Given the description of an element on the screen output the (x, y) to click on. 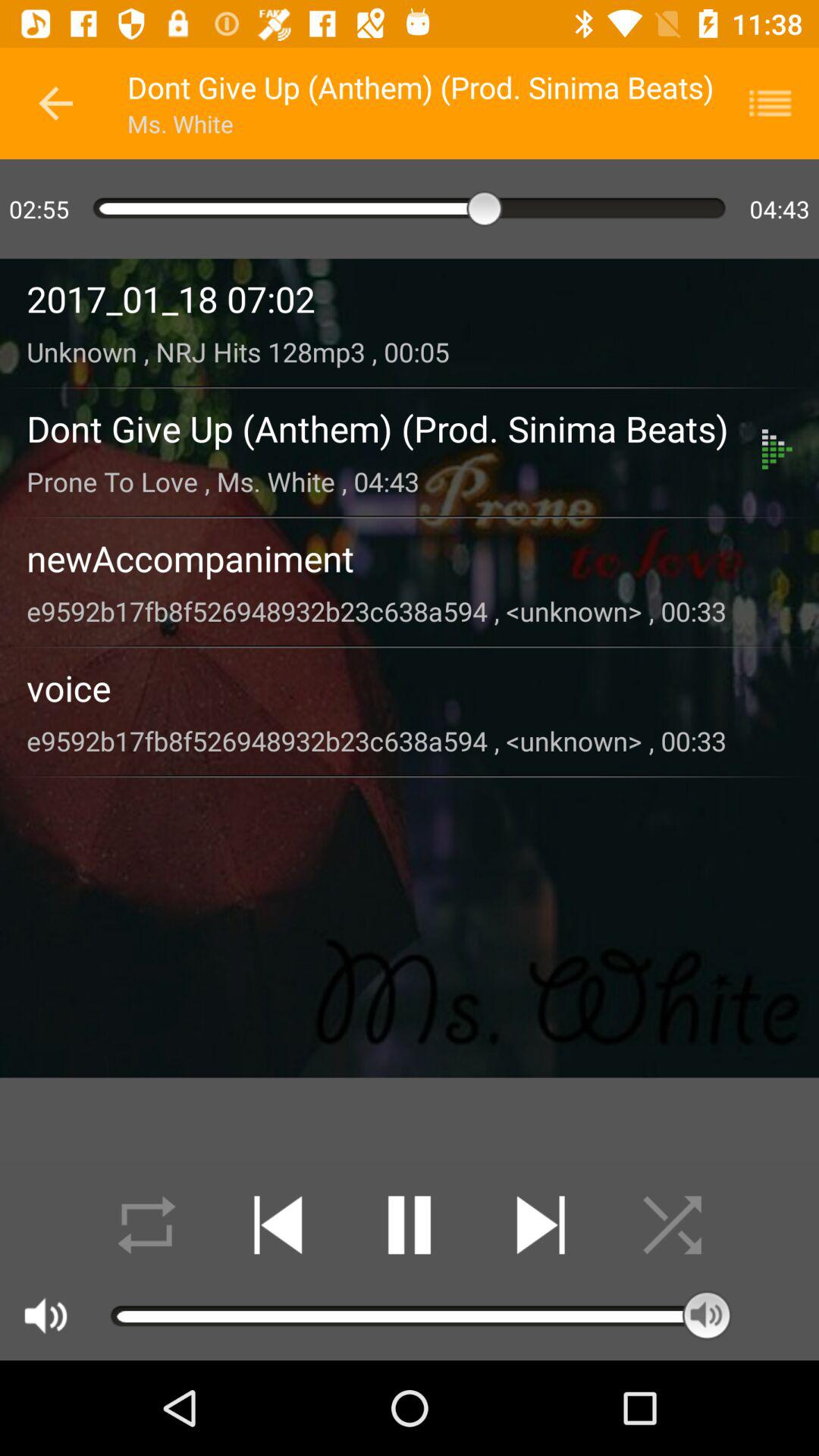
play previous video (277, 1224)
